Given the description of an element on the screen output the (x, y) to click on. 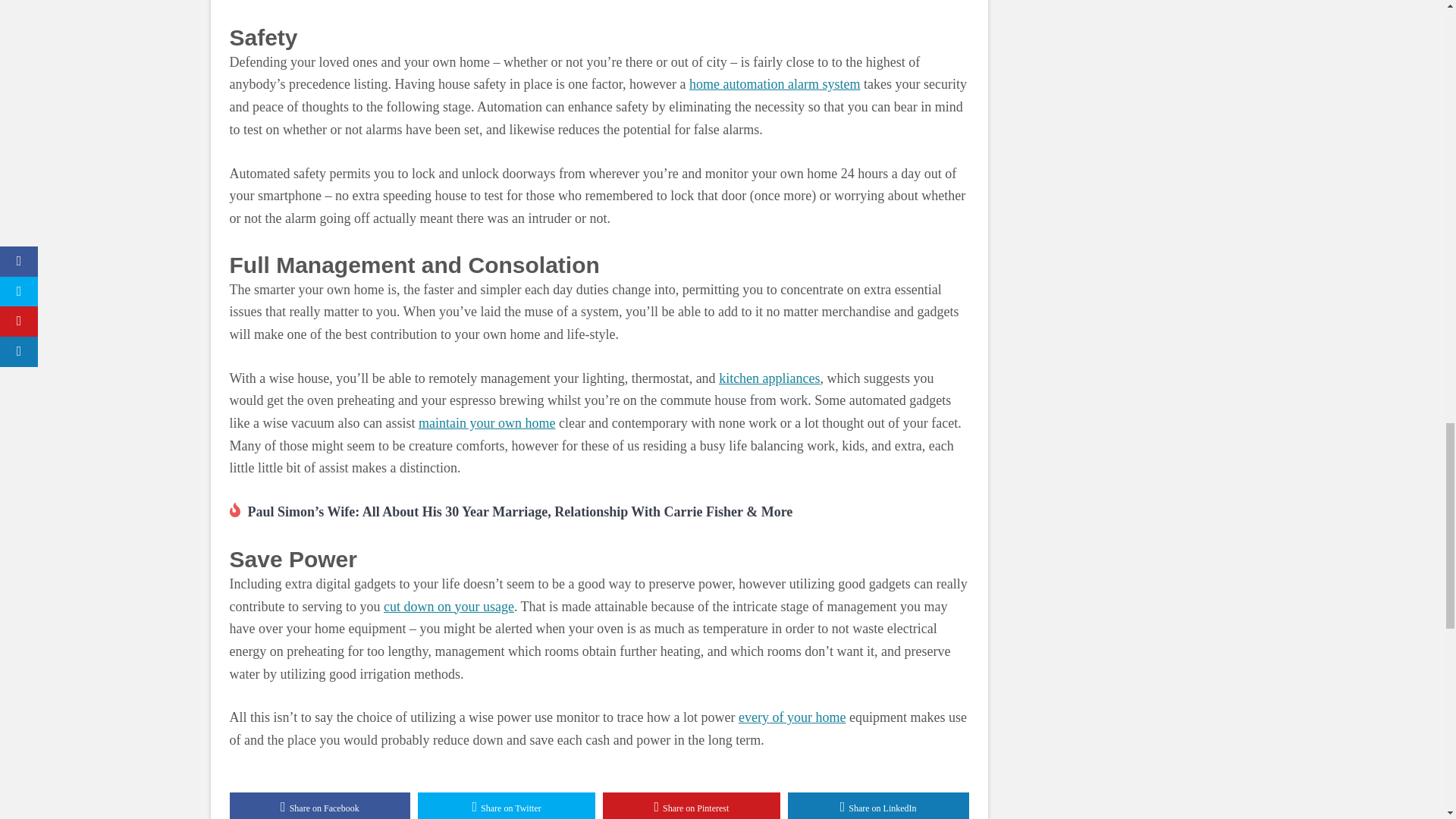
kitchen appliances (769, 378)
home automation alarm system (774, 83)
